Given the description of an element on the screen output the (x, y) to click on. 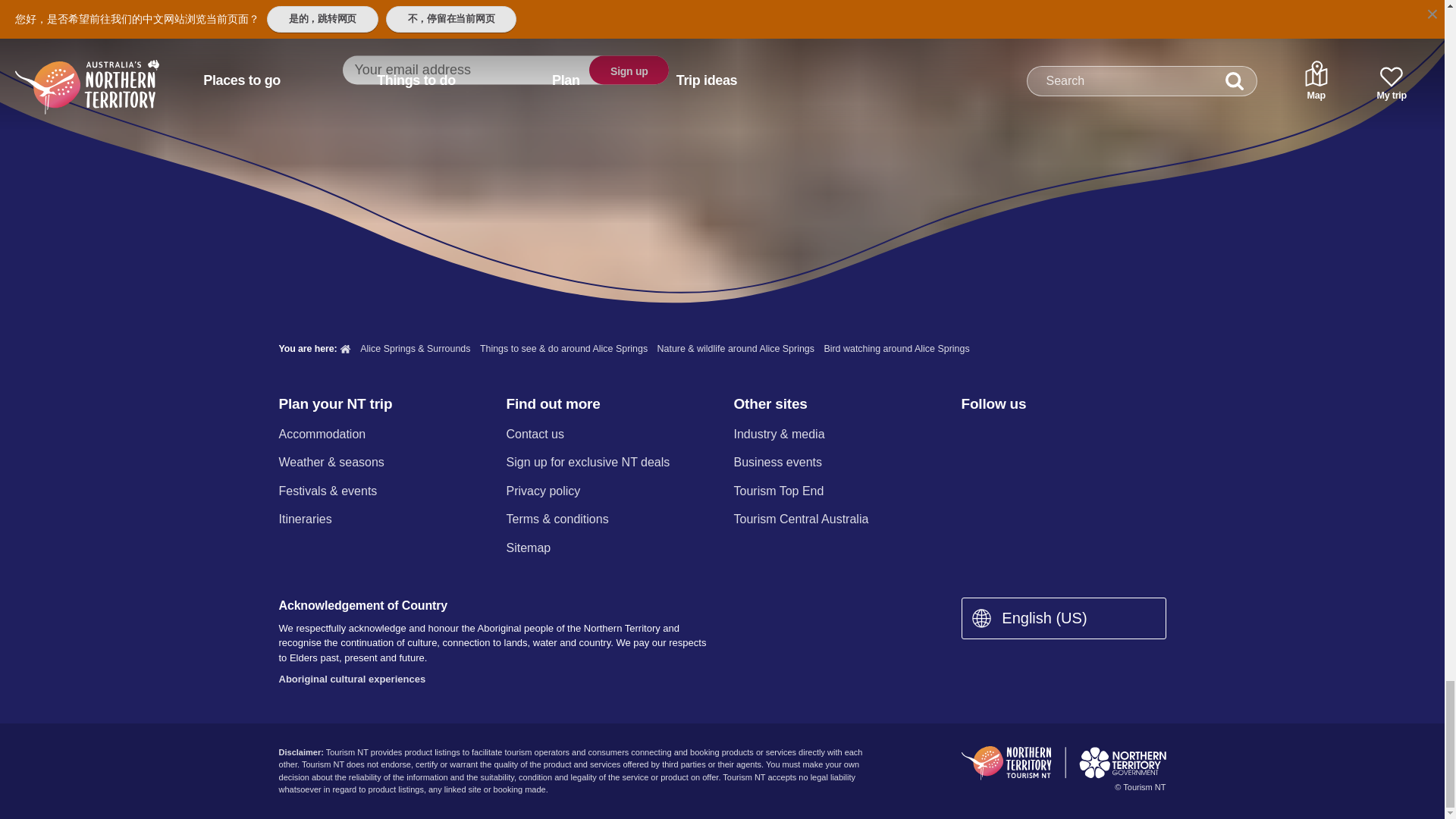
Twitter (1050, 435)
Facebook (970, 435)
Instagram (1009, 435)
Trip Advisor (1129, 435)
YouTube (1089, 435)
